Given the description of an element on the screen output the (x, y) to click on. 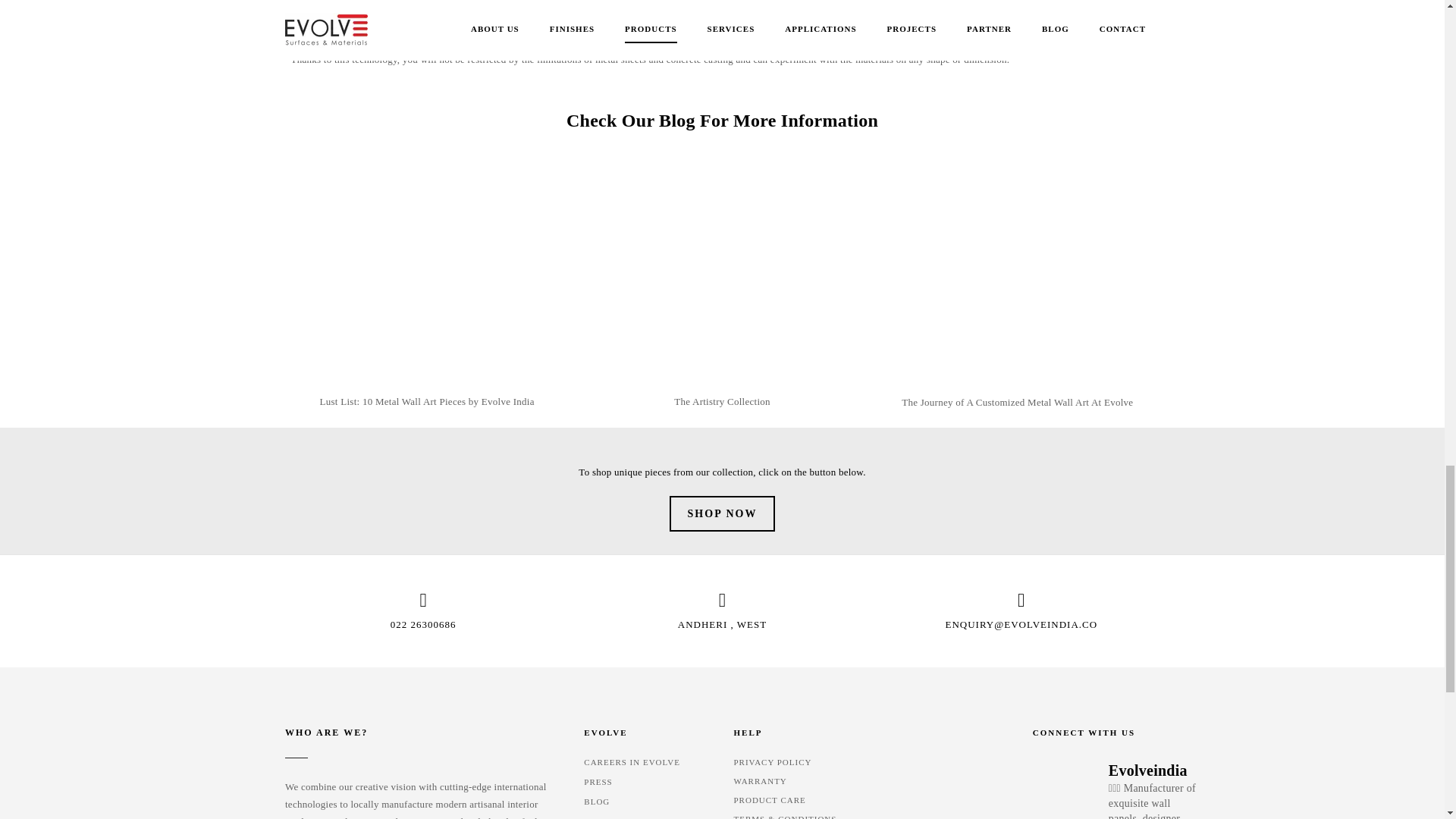
The-Journey-of-A-Customised-Metal-Wall-Art-At-Evolve-Blog (1017, 262)
Artistry Collection (721, 262)
Shopify Blog Featured Image (427, 262)
